Given the description of an element on the screen output the (x, y) to click on. 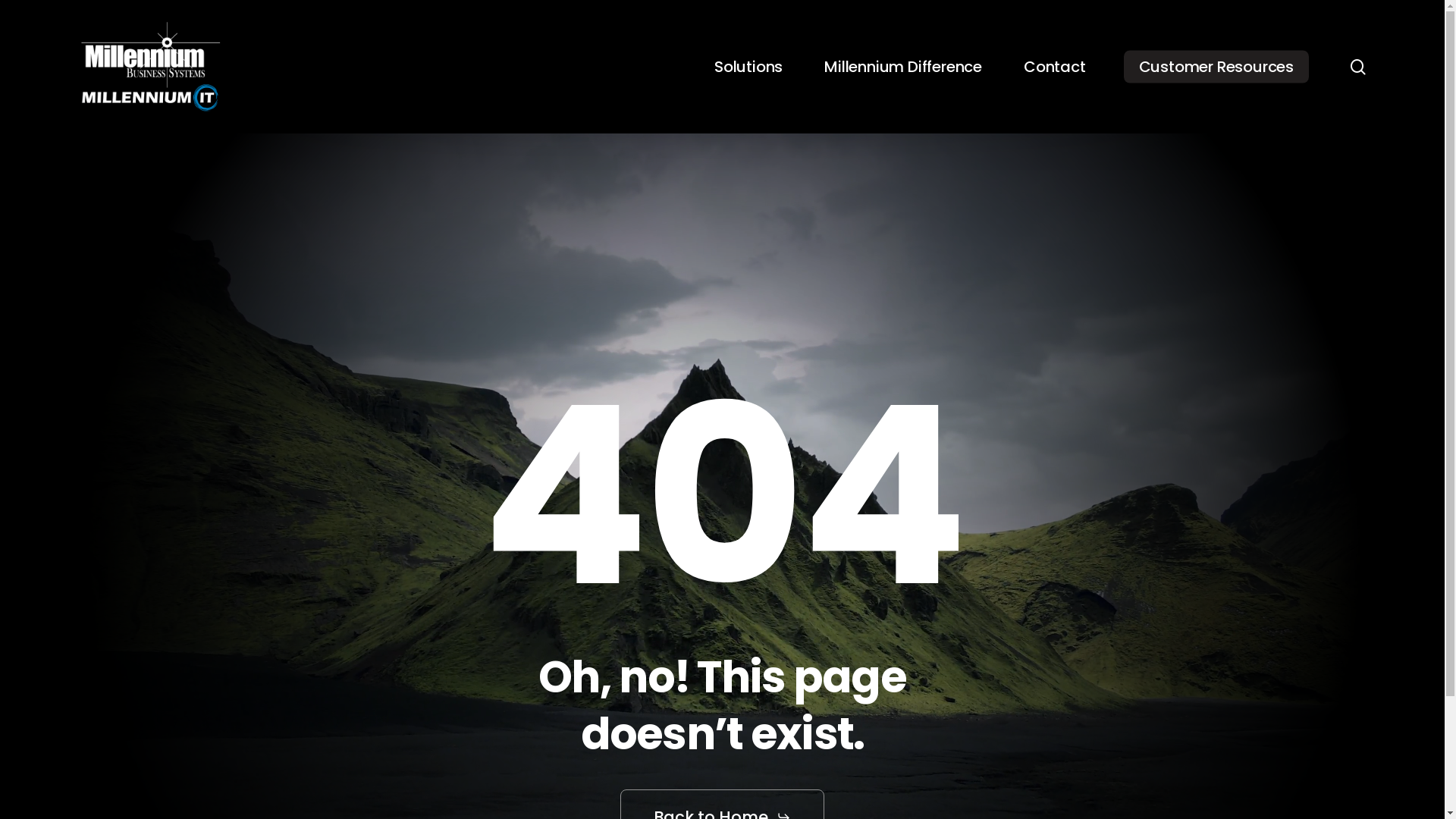
Solutions Element type: text (748, 66)
search Element type: text (1357, 67)
Customer Resources Element type: text (1215, 66)
Millennium Difference Element type: text (903, 66)
Contact Element type: text (1054, 66)
